Given the description of an element on the screen output the (x, y) to click on. 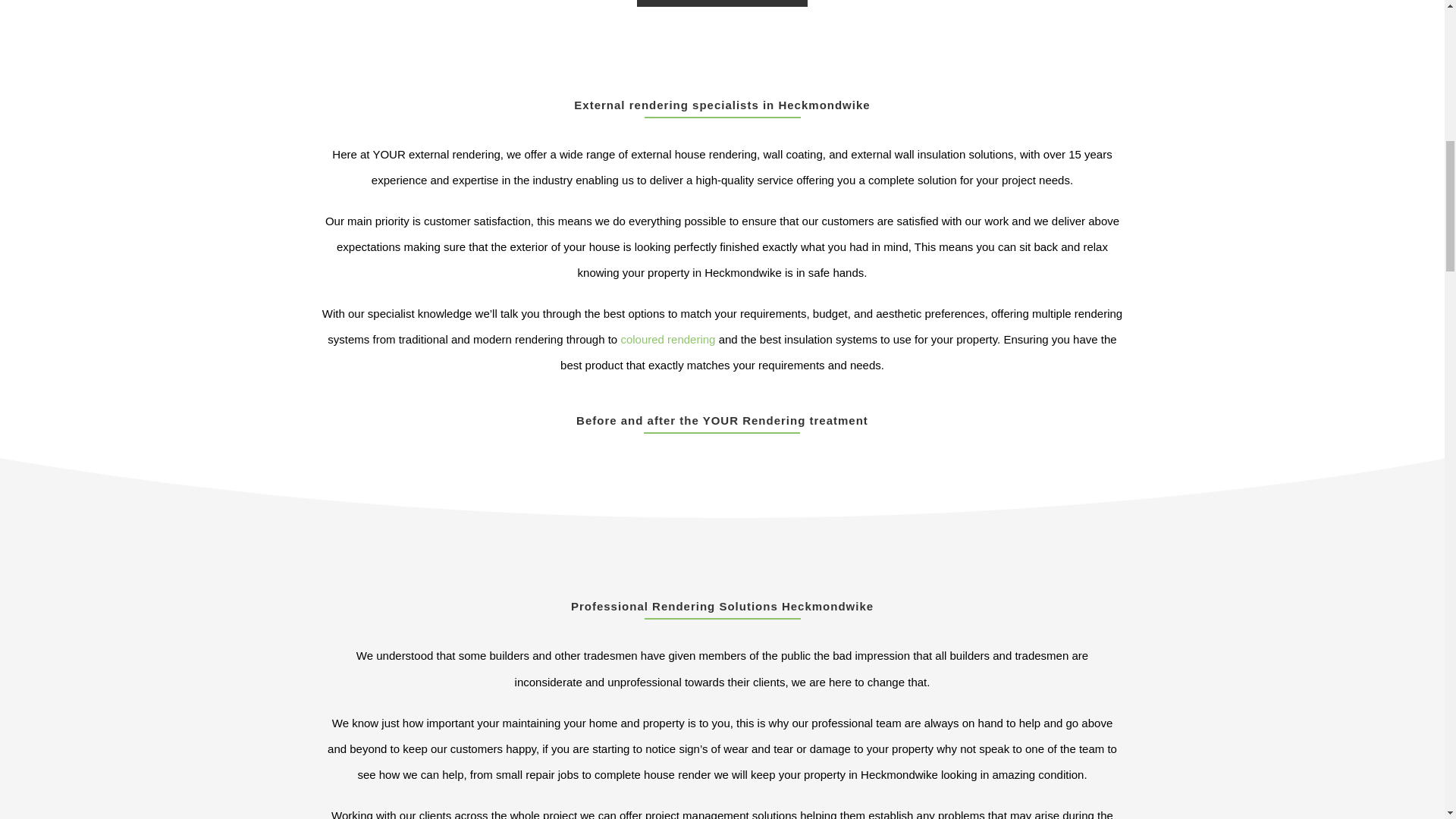
coloured rendering (667, 338)
GET A FREE QUOTE (721, 4)
